Given the description of an element on the screen output the (x, y) to click on. 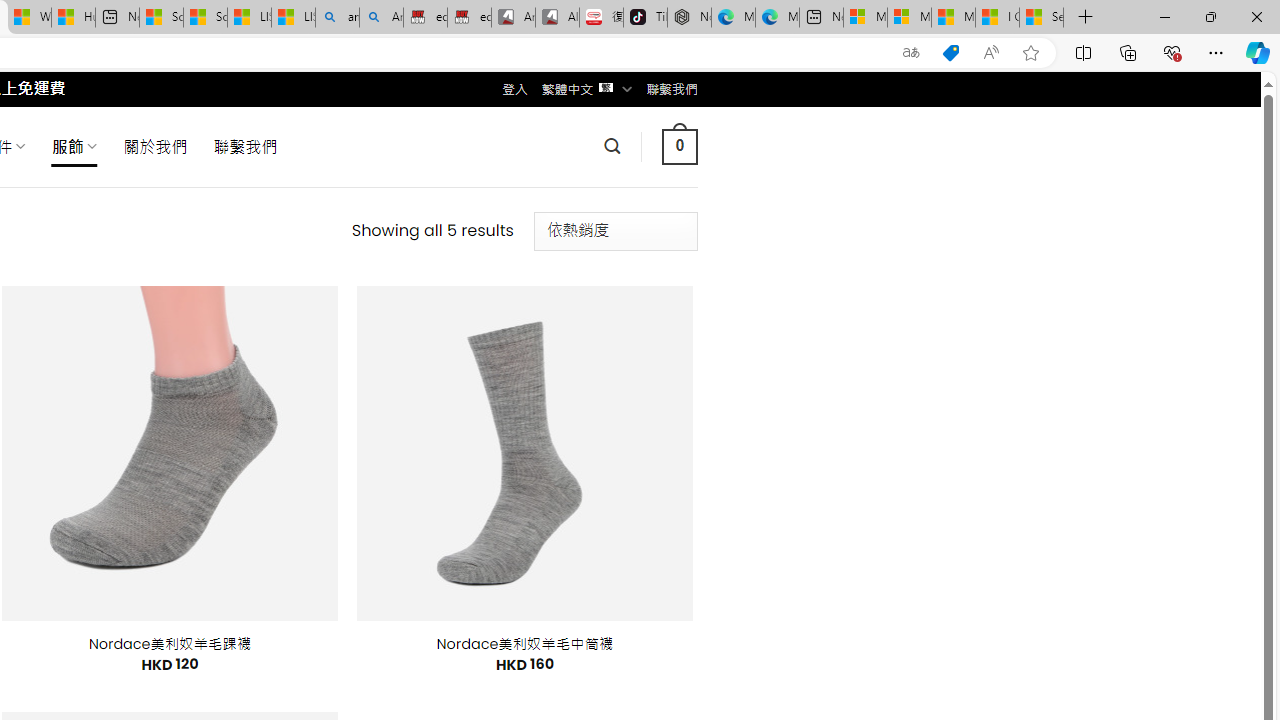
Show translate options (910, 53)
I Gained 20 Pounds of Muscle in 30 Days! | Watch (996, 17)
